Given the description of an element on the screen output the (x, y) to click on. 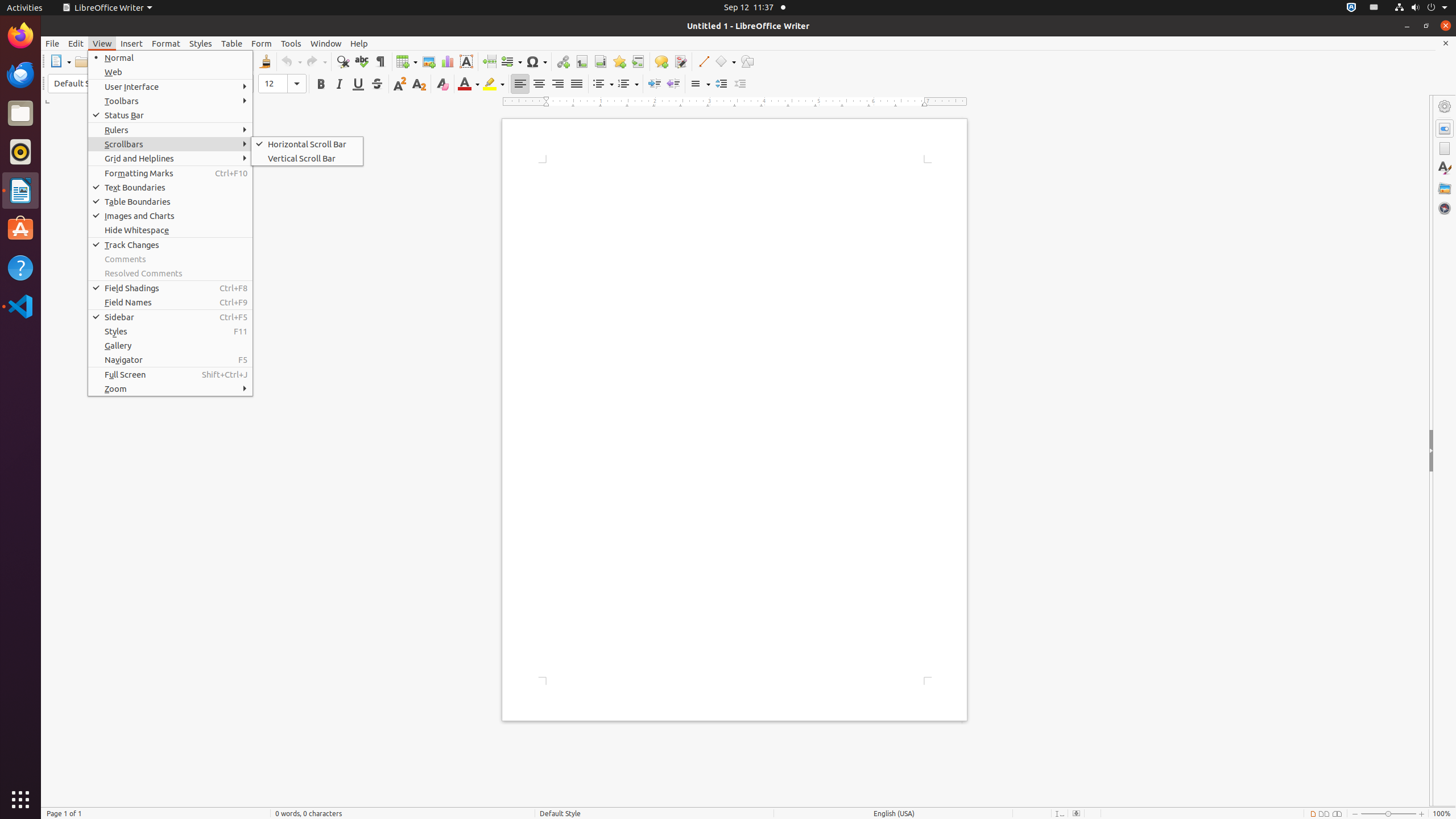
Comment Element type: push-button (660, 61)
Formatting Marks Element type: check-menu-item (170, 173)
Normal Element type: radio-menu-item (170, 57)
Basic Shapes Element type: push-button (724, 61)
Superscript Element type: toggle-button (399, 83)
